Given the description of an element on the screen output the (x, y) to click on. 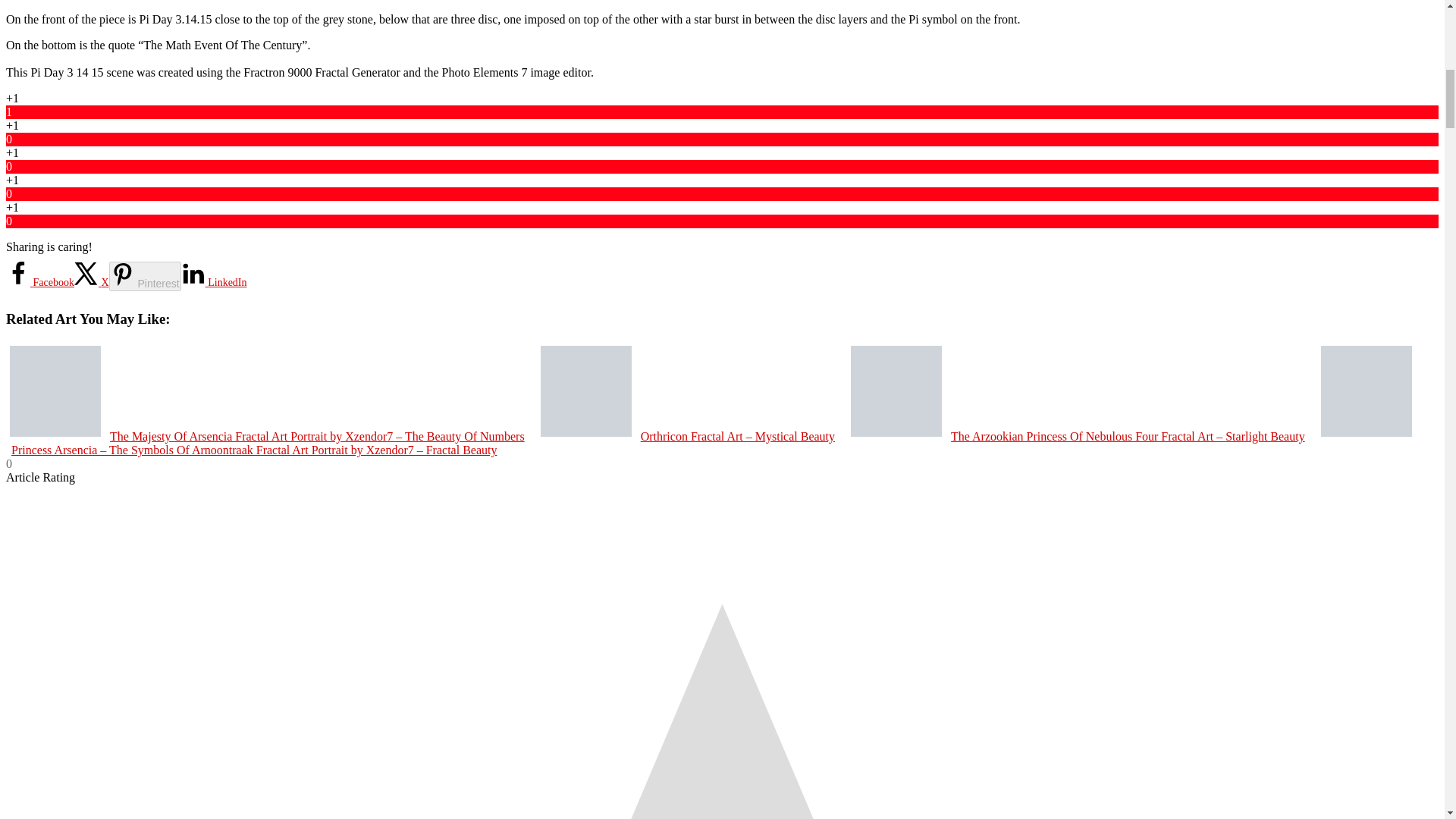
Share on X (91, 282)
Save to Pinterest (144, 276)
Share on Facebook (39, 282)
Orthricon Fractal Art - Mystical Beauty 3 (585, 390)
Share on LinkedIn (213, 282)
